Given the description of an element on the screen output the (x, y) to click on. 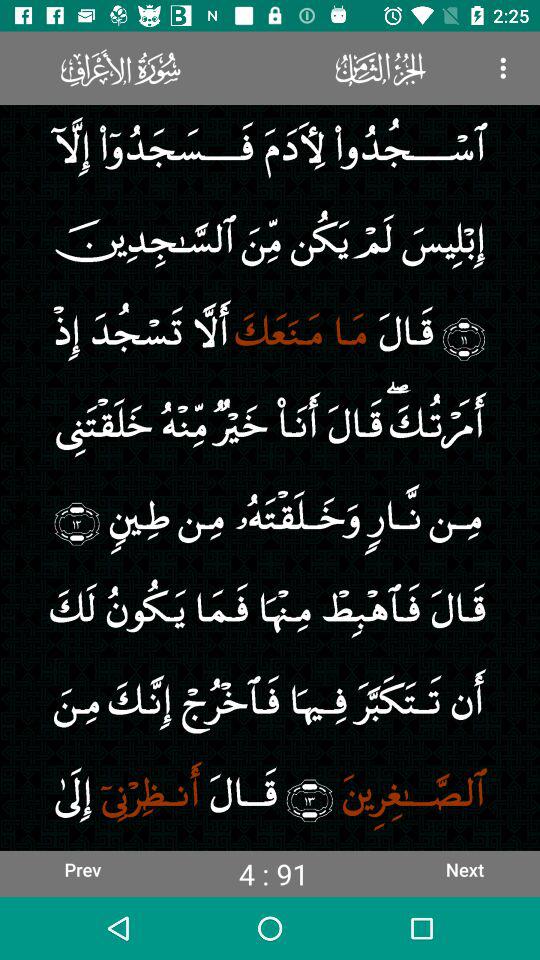
select the icon to the right of the 4 : 91 (464, 869)
